Given the description of an element on the screen output the (x, y) to click on. 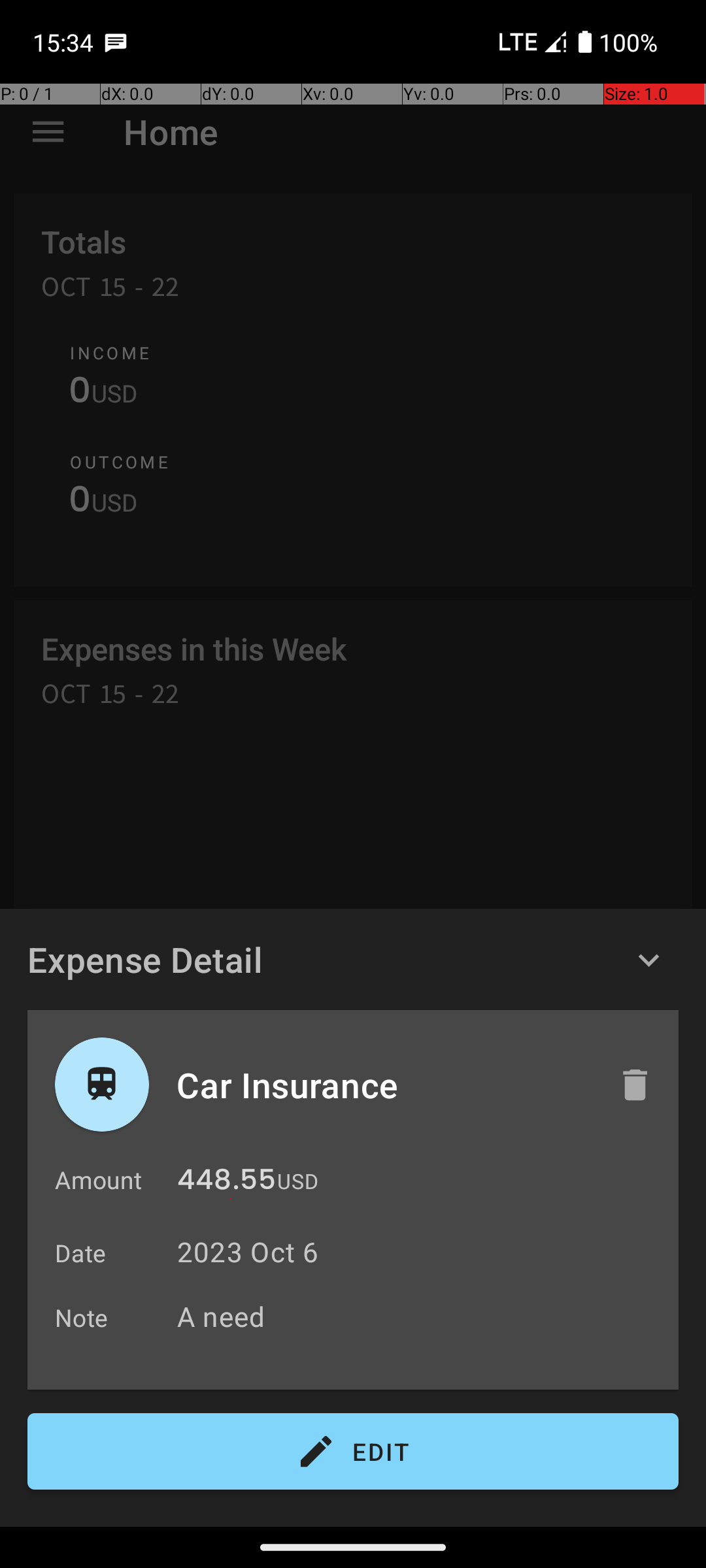
Car Insurance Element type: android.widget.TextView (383, 1084)
448.55 Element type: android.widget.TextView (226, 1182)
2023 Oct 6 Element type: android.widget.TextView (247, 1251)
